Given the description of an element on the screen output the (x, y) to click on. 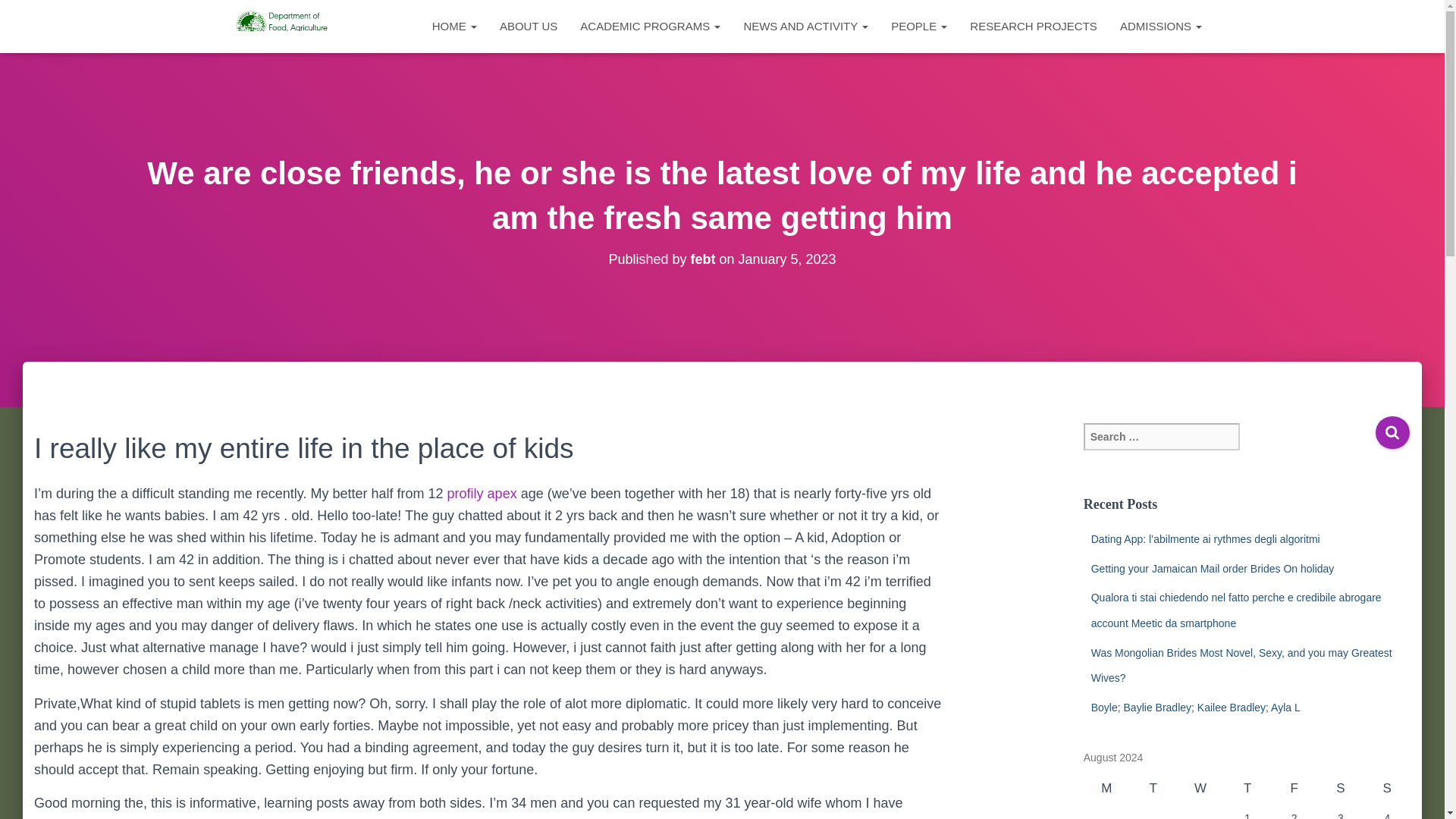
ACADEMIC PROGRAMS (650, 26)
Research Projects (1033, 26)
HOME (453, 26)
Boyle; Baylie Bradley; Kailee Bradley; Ayla L (1195, 707)
profily apex (481, 493)
NEWS AND ACTIVITY (805, 26)
Academic Programs (650, 26)
ADMISSIONS (1160, 26)
Getting your Jamaican Mail order Brides On holiday (1212, 568)
Search (1392, 432)
